Given the description of an element on the screen output the (x, y) to click on. 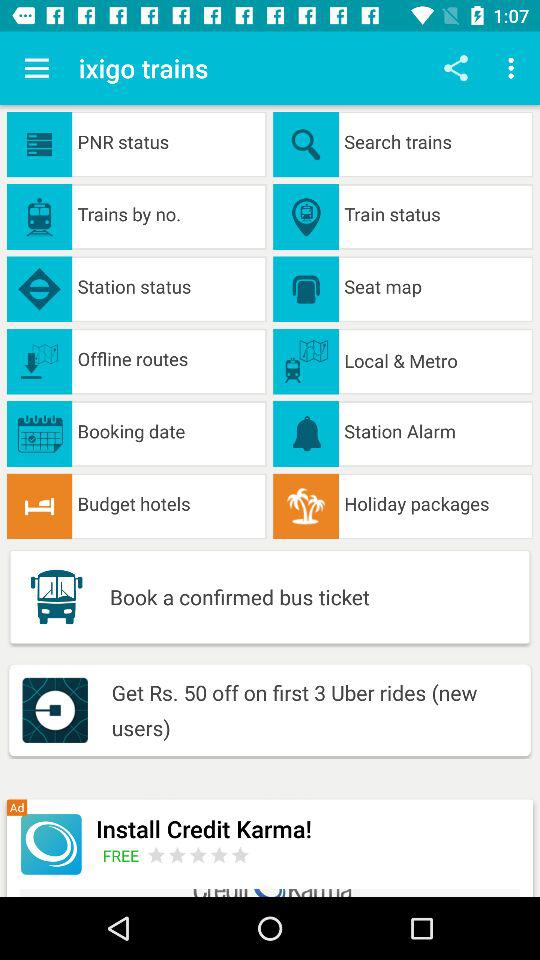
launch the item above free item (308, 828)
